Given the description of an element on the screen output the (x, y) to click on. 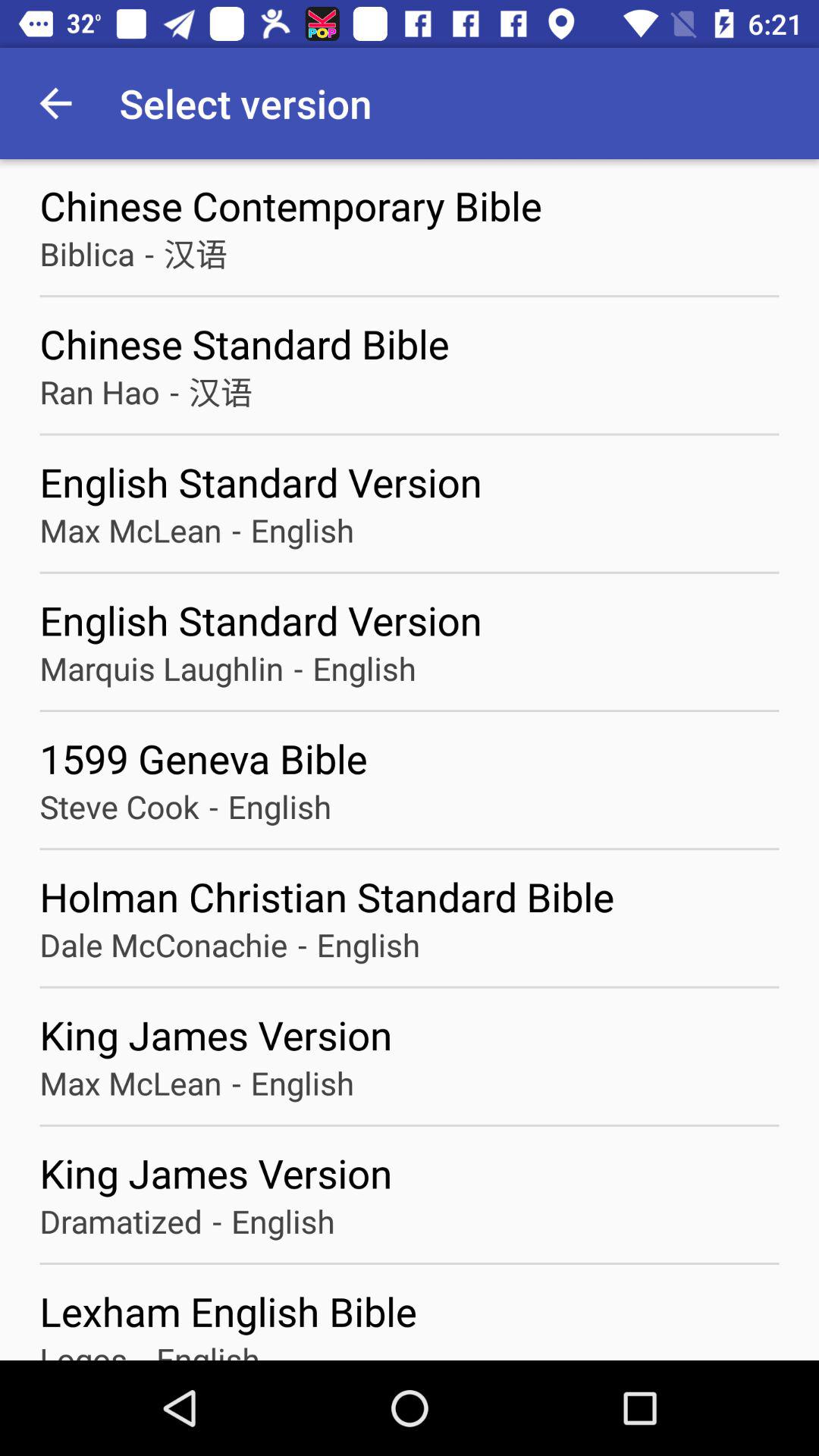
turn on the app to the left of select version icon (55, 103)
